Given the description of an element on the screen output the (x, y) to click on. 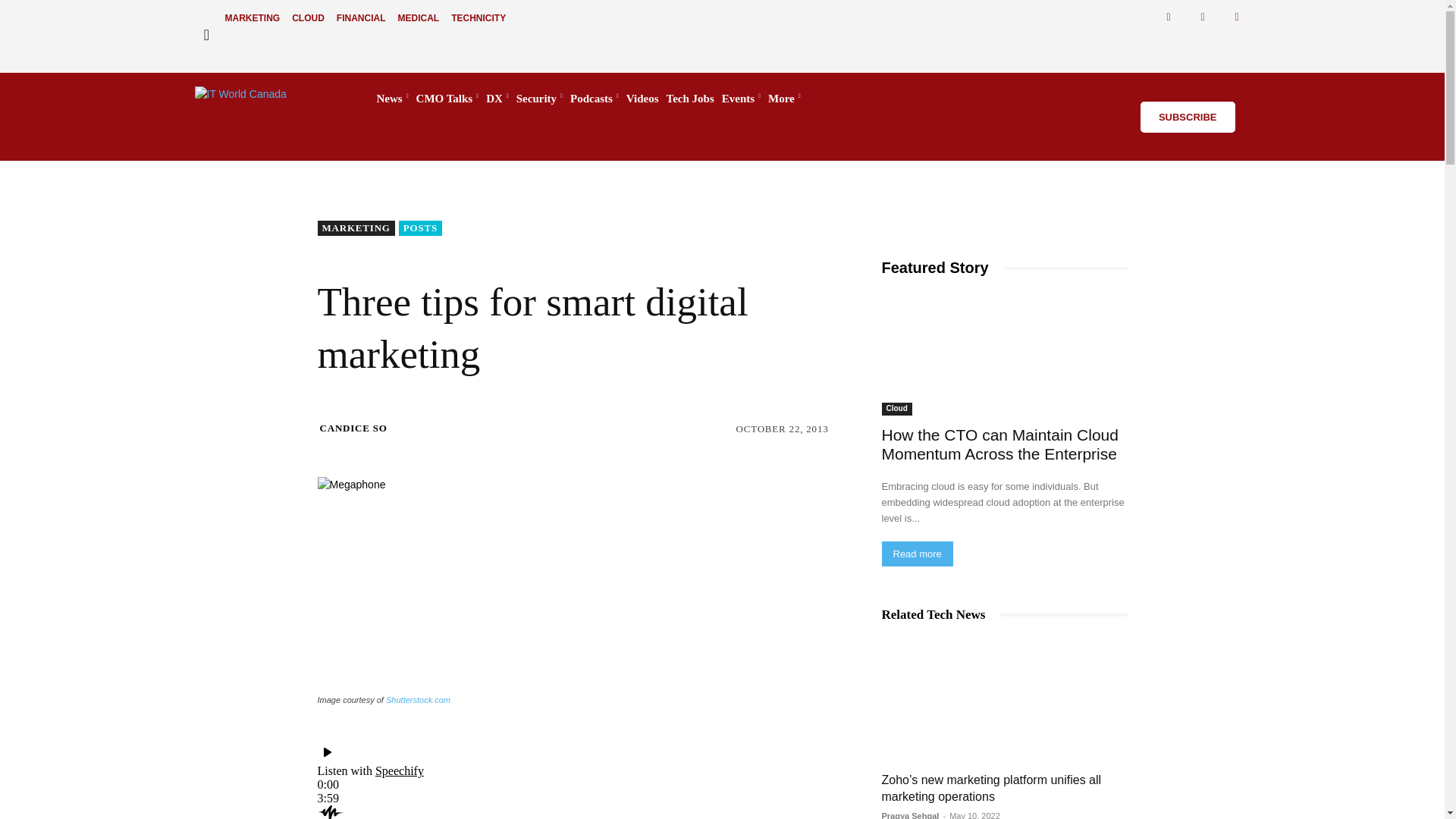
MARKETING (251, 18)
IT World Canada - IT News (269, 98)
MEDICAL (418, 18)
Facebook (1169, 17)
CLOUD (307, 18)
Twitter (1202, 17)
FINANCIAL (360, 18)
TECHNICITY (478, 18)
Rss (1237, 17)
